Given the description of an element on the screen output the (x, y) to click on. 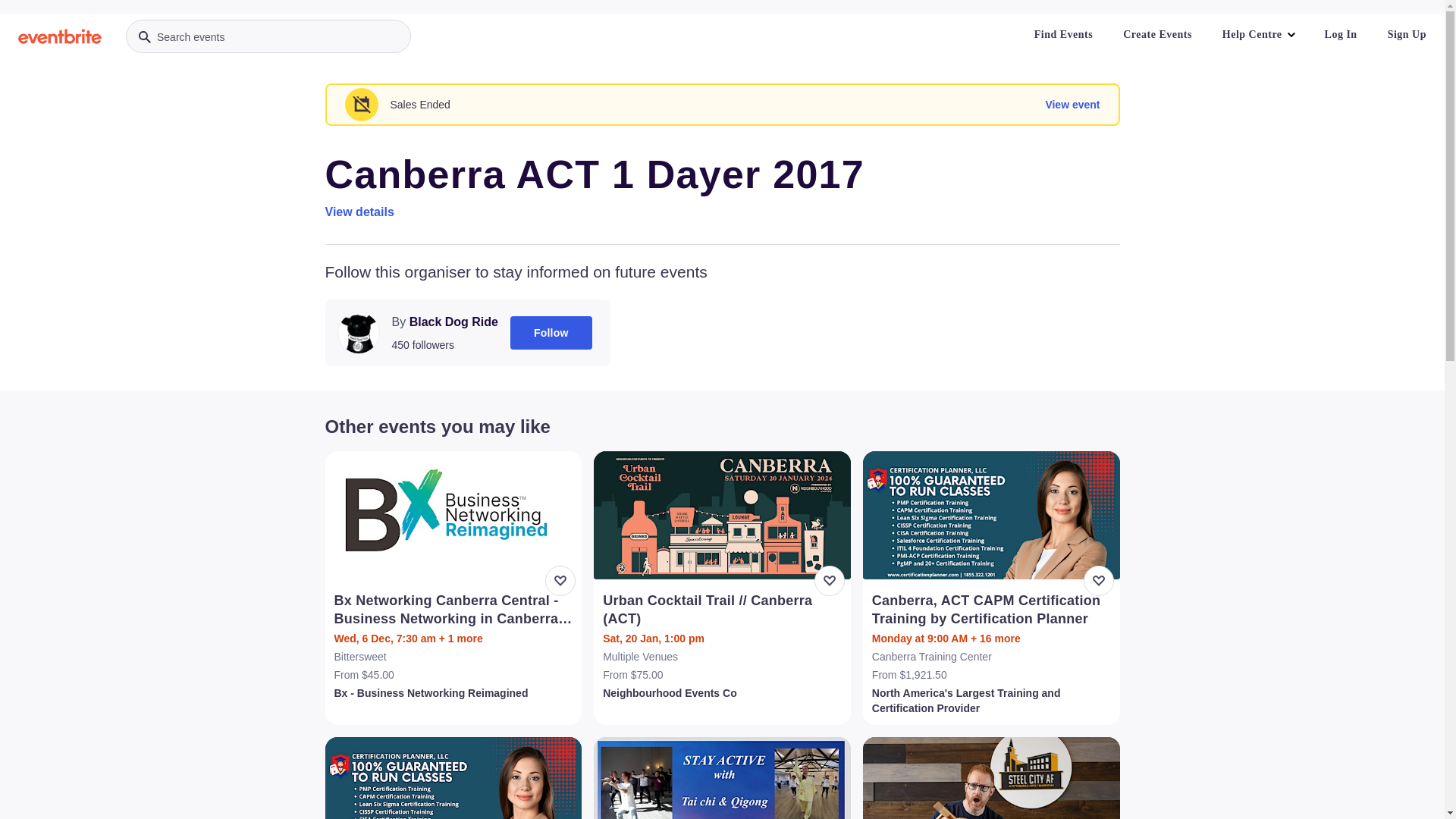
Log In Element type: text (1340, 34)
View details Element type: text (358, 211)
Eventbrite Element type: hover (59, 35)
Search events Element type: text (268, 36)
Sign Up Element type: text (1406, 34)
Create Events Element type: text (1157, 34)
Urban Cocktail Trail // Canberra (ACT) Element type: text (723, 609)
Find Events Element type: text (1063, 34)
View event Element type: text (1071, 104)
Follow Element type: text (551, 332)
